Given the description of an element on the screen output the (x, y) to click on. 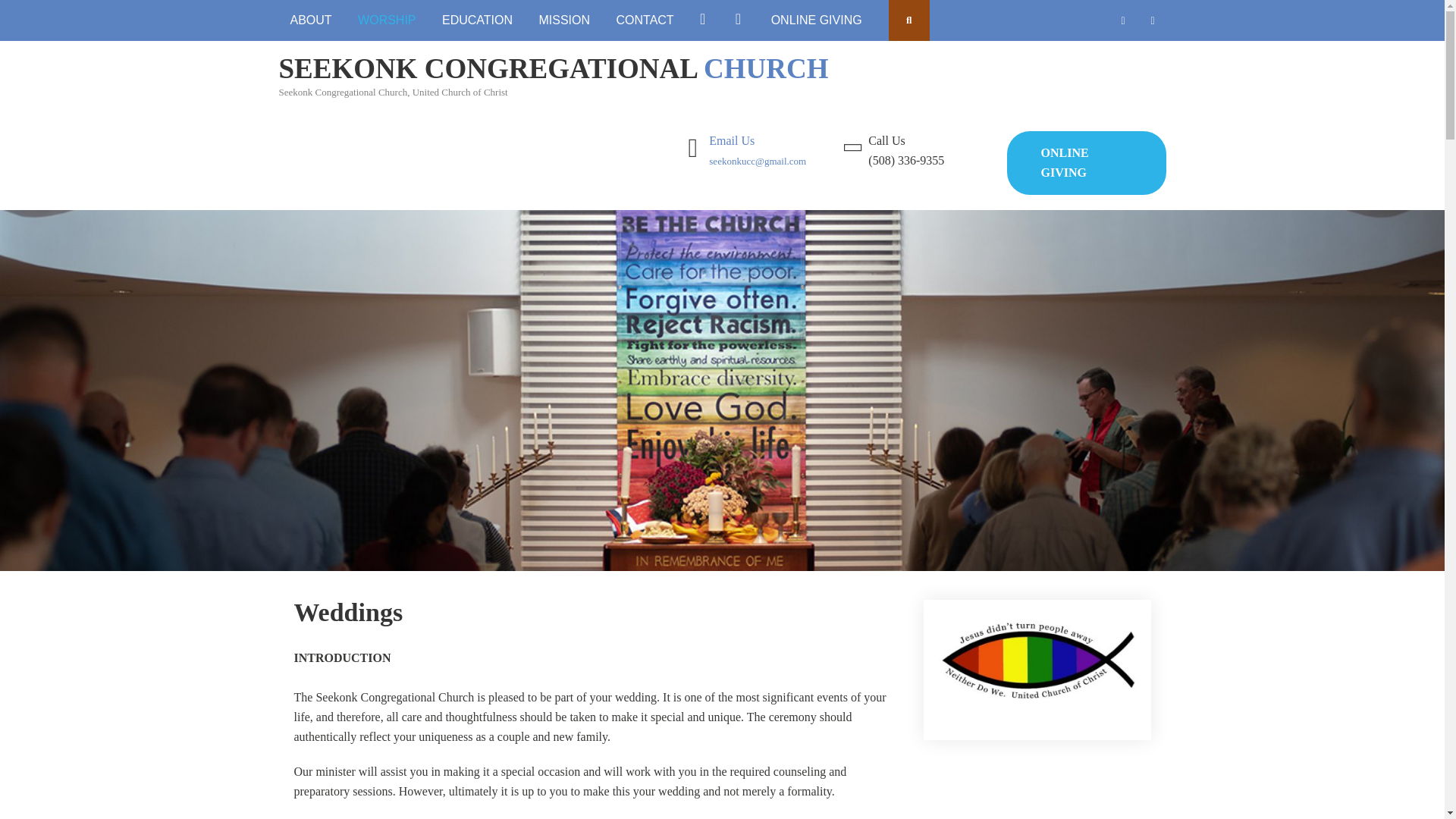
EDUCATION (477, 20)
WORSHIP (386, 20)
ONLINE GIVING (1086, 162)
CONTACT (645, 20)
SEEKONK CONGREGATIONAL CHURCH (553, 68)
ONLINE GIVING (816, 20)
MISSION (564, 20)
ABOUT (311, 20)
